Given the description of an element on the screen output the (x, y) to click on. 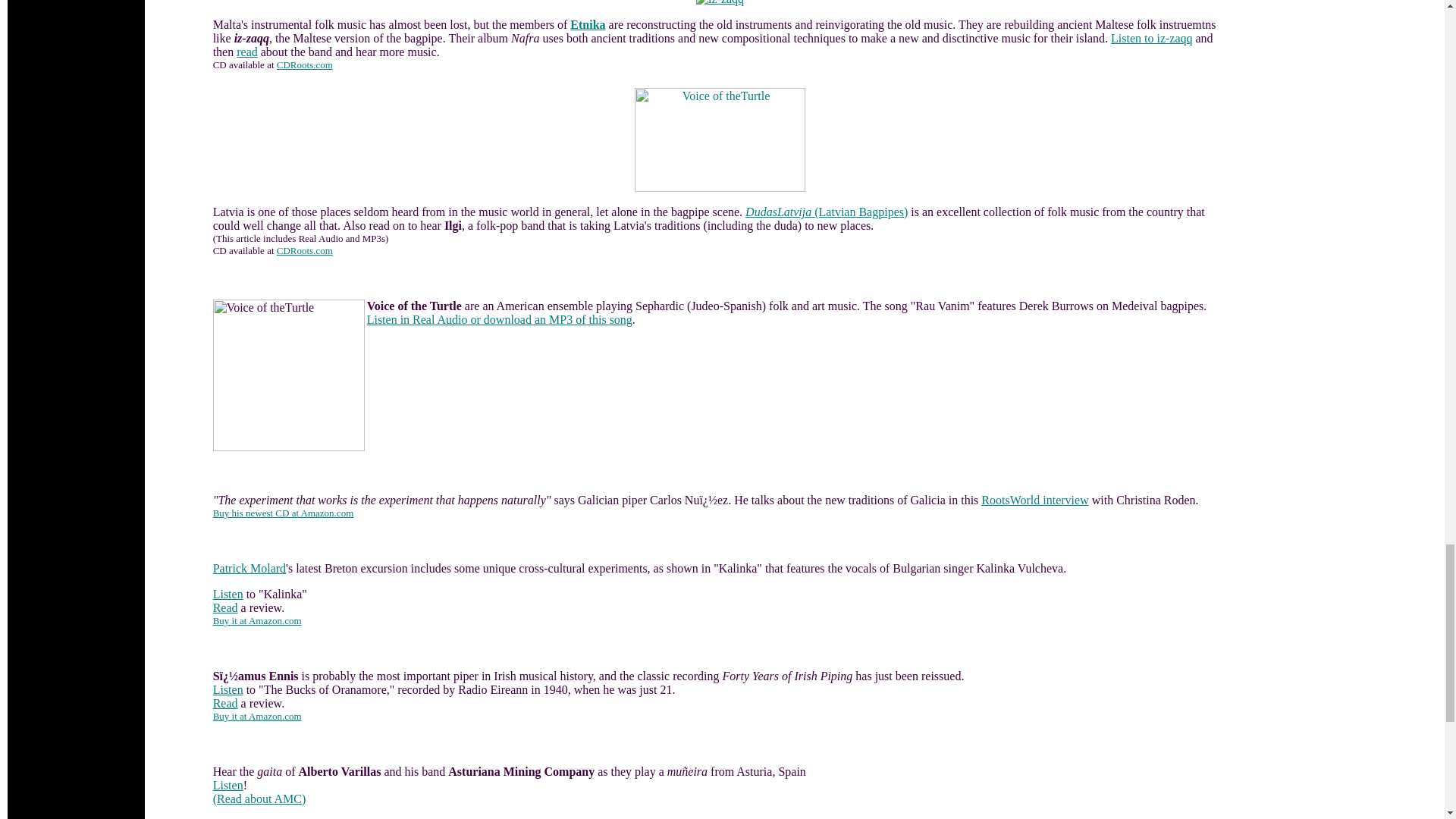
Listen to iz-zaqq (1151, 38)
read (246, 51)
Etnika (587, 24)
CDRoots.com (304, 64)
